Given the description of an element on the screen output the (x, y) to click on. 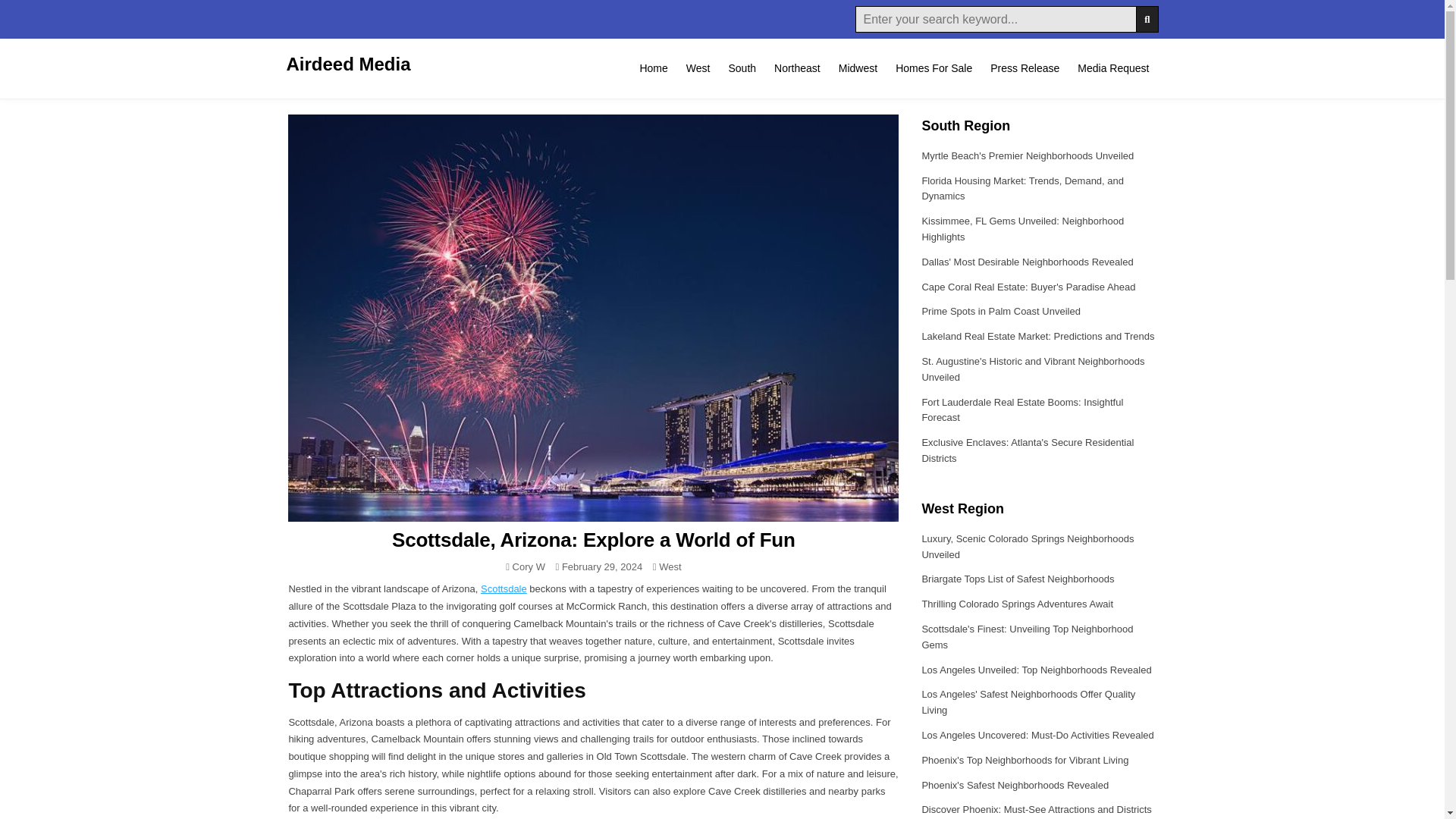
Kissimmee, FL Gems Unveiled: Neighborhood Highlights (1022, 228)
Los Angeles' Safest Neighborhoods Offer Quality Living (1028, 701)
Dallas' Most Desirable Neighborhoods Revealed (1026, 261)
Scottsdale (503, 588)
Scottsdale's Finest: Unveiling Top Neighborhood Gems (1026, 636)
Airdeed Media (348, 64)
South (742, 68)
West (670, 566)
St. Augustine's Historic and Vibrant Neighborhoods Unveiled (1032, 369)
Briargate Tops List of Safest Neighborhoods (1017, 578)
